Given the description of an element on the screen output the (x, y) to click on. 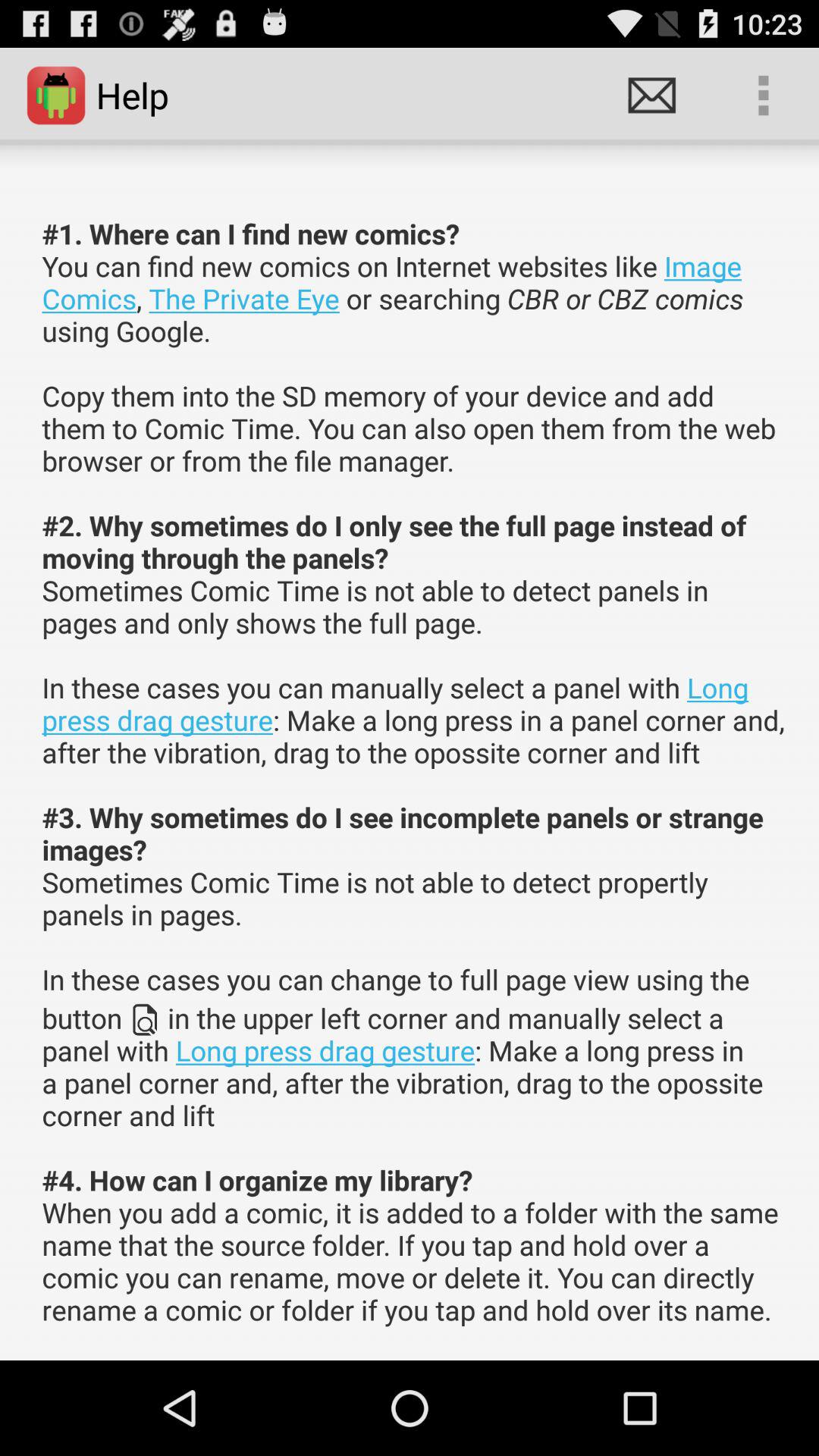
press the 1 where can item (414, 771)
